Given the description of an element on the screen output the (x, y) to click on. 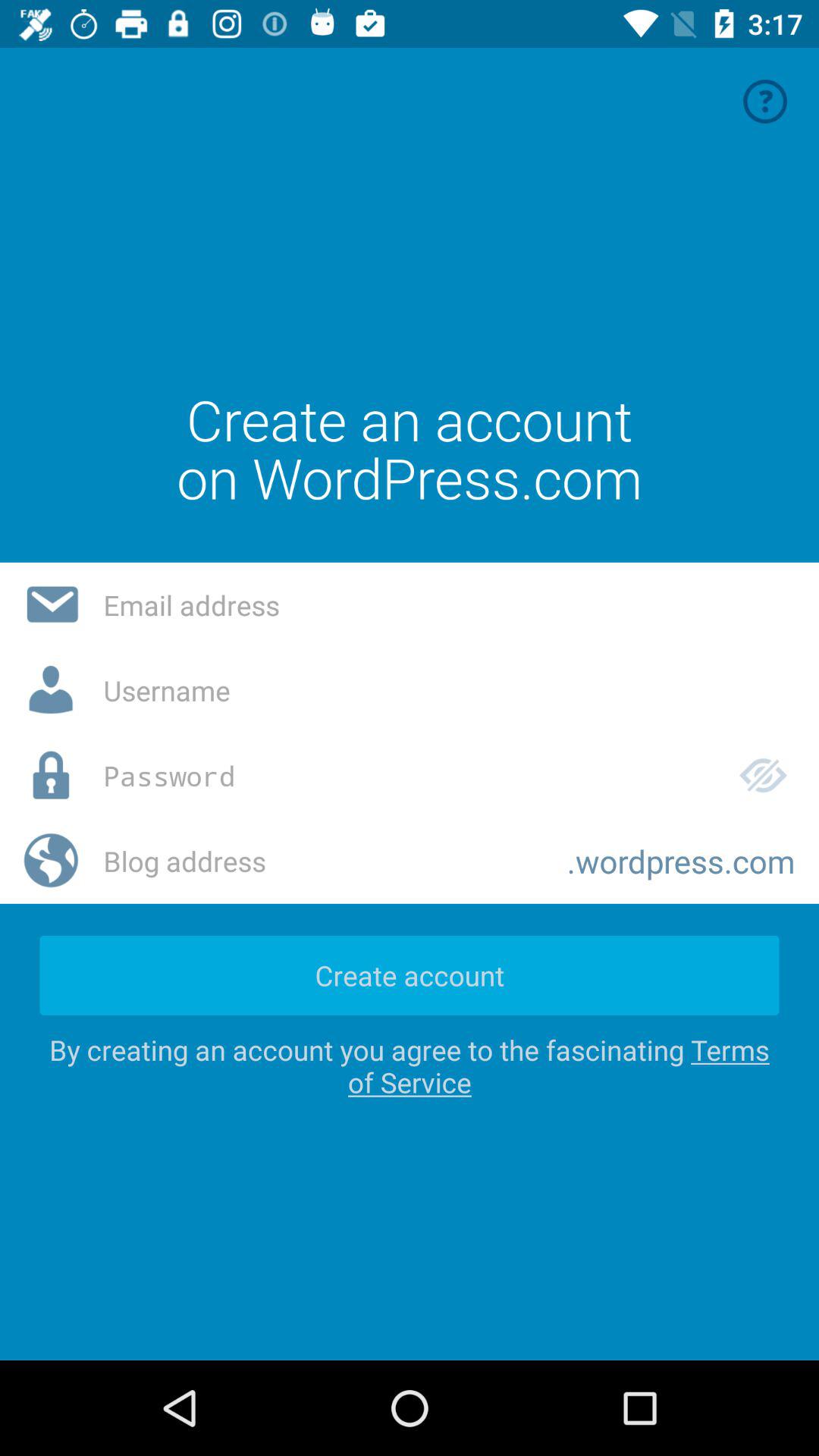
select item below create account icon (409, 1066)
